Given the description of an element on the screen output the (x, y) to click on. 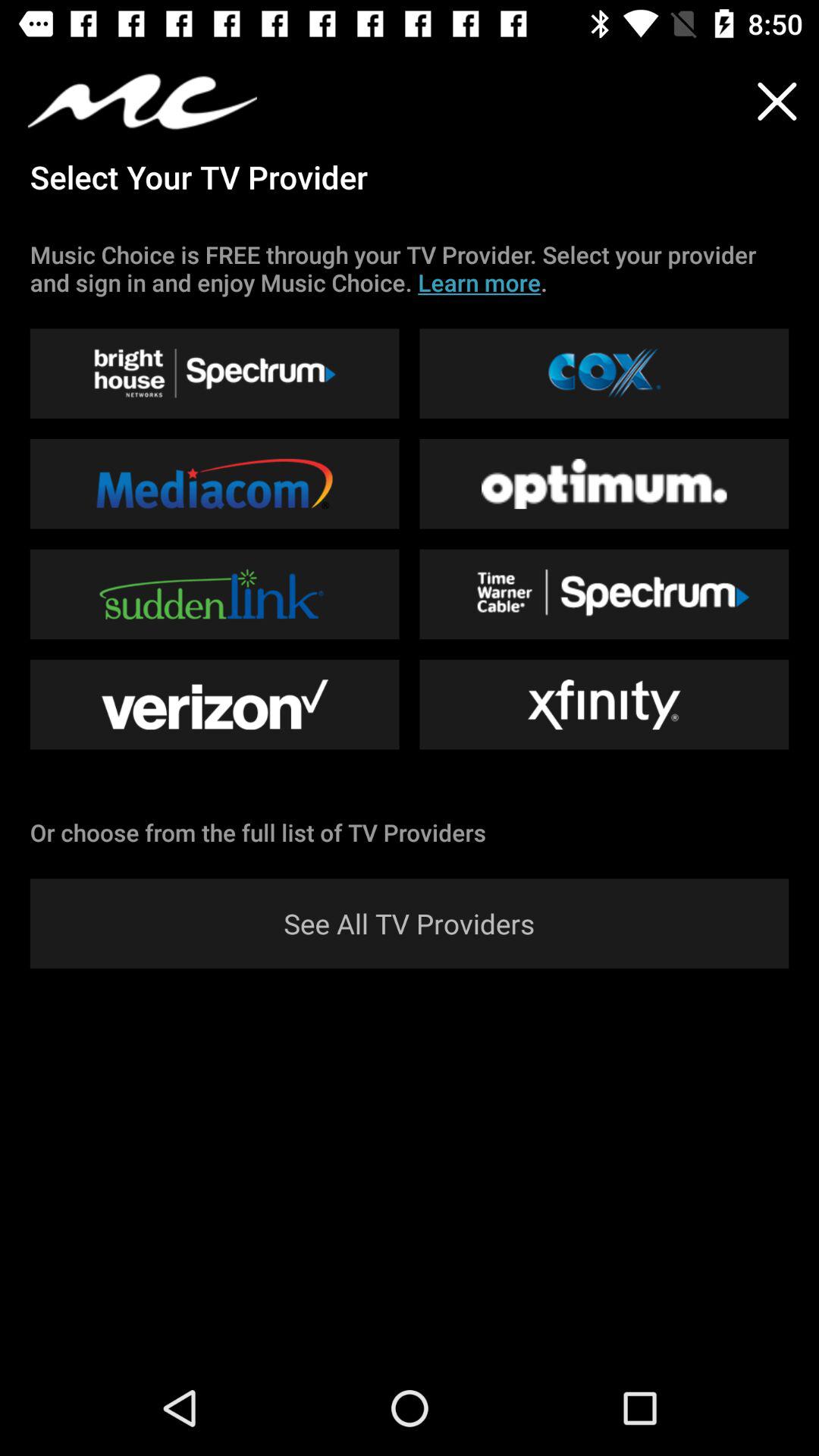
swipe until music choice is item (409, 268)
